Given the description of an element on the screen output the (x, y) to click on. 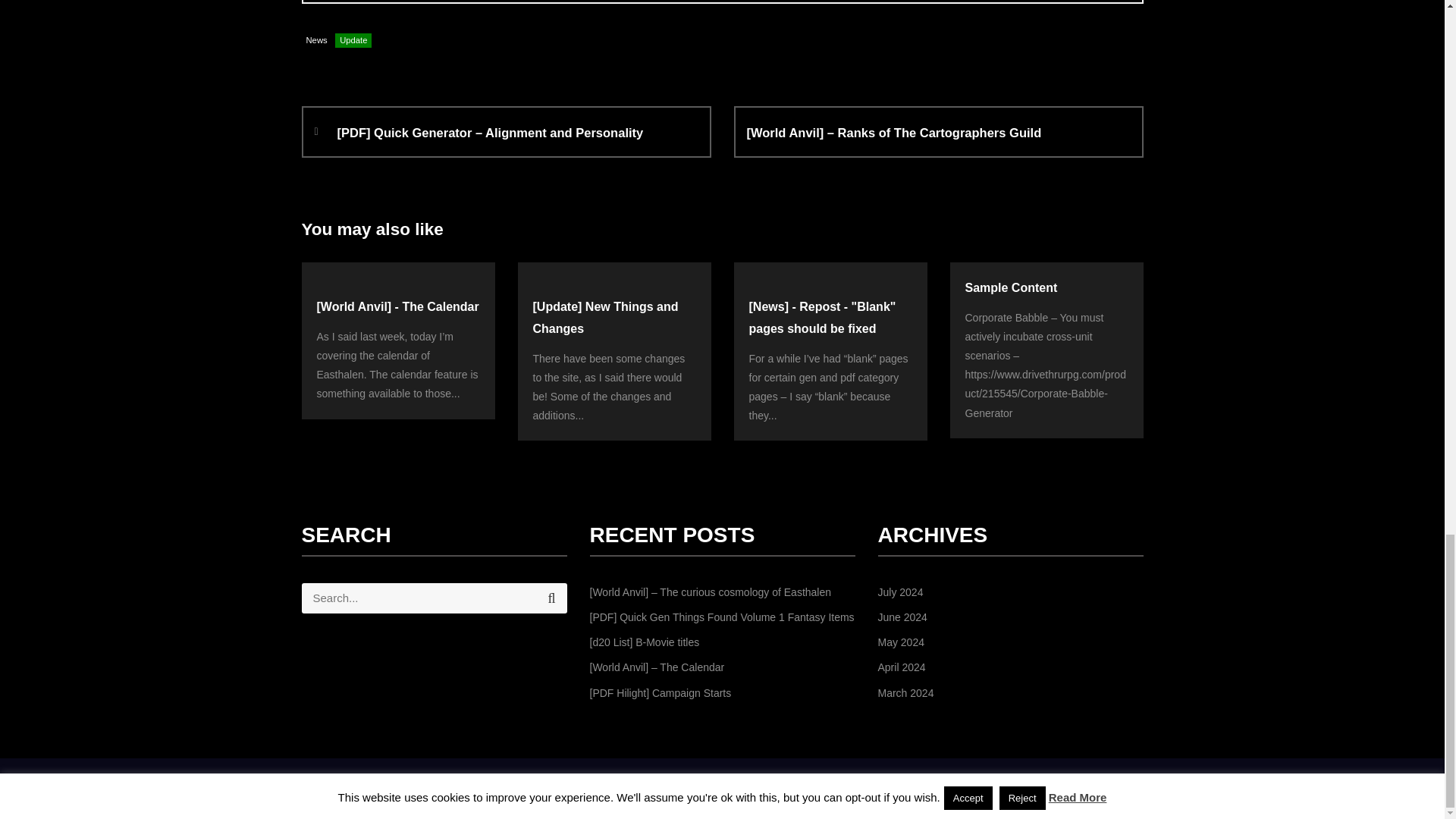
News (316, 40)
Search (550, 598)
July 2024 (900, 592)
Update (352, 40)
